Given the description of an element on the screen output the (x, y) to click on. 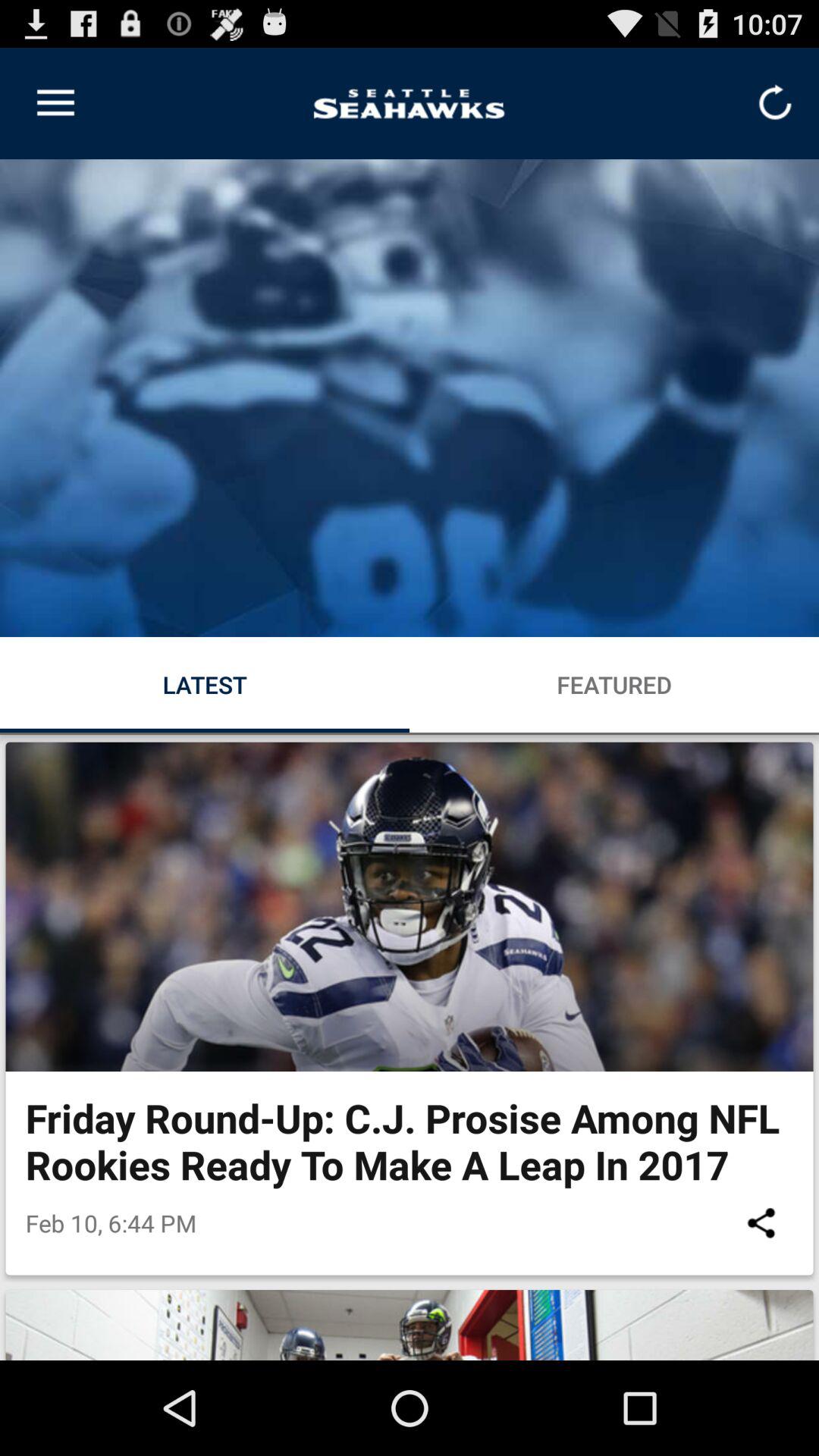
launch icon at the top left corner (55, 103)
